Given the description of an element on the screen output the (x, y) to click on. 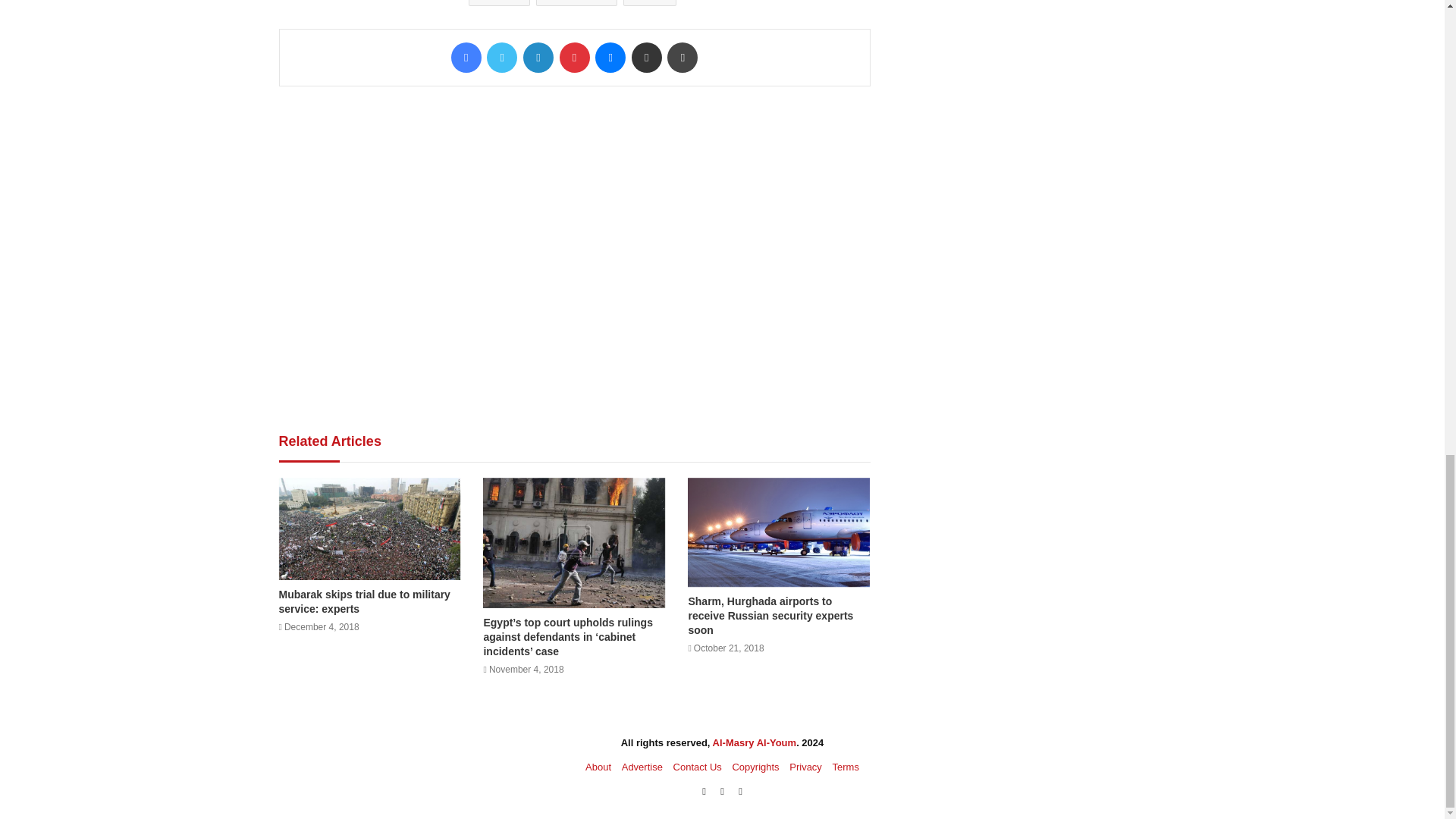
Messenger (610, 57)
LinkedIn (537, 57)
LinkedIn (537, 57)
Facebook (466, 57)
ndp (650, 2)
Print (681, 57)
Messenger (610, 57)
Twitter (501, 57)
Share via Email (646, 57)
Twitter (501, 57)
Facebook (466, 57)
Pinterest (574, 57)
Pinterest (574, 57)
Mubarak (576, 2)
Share via Email (646, 57)
